Given the description of an element on the screen output the (x, y) to click on. 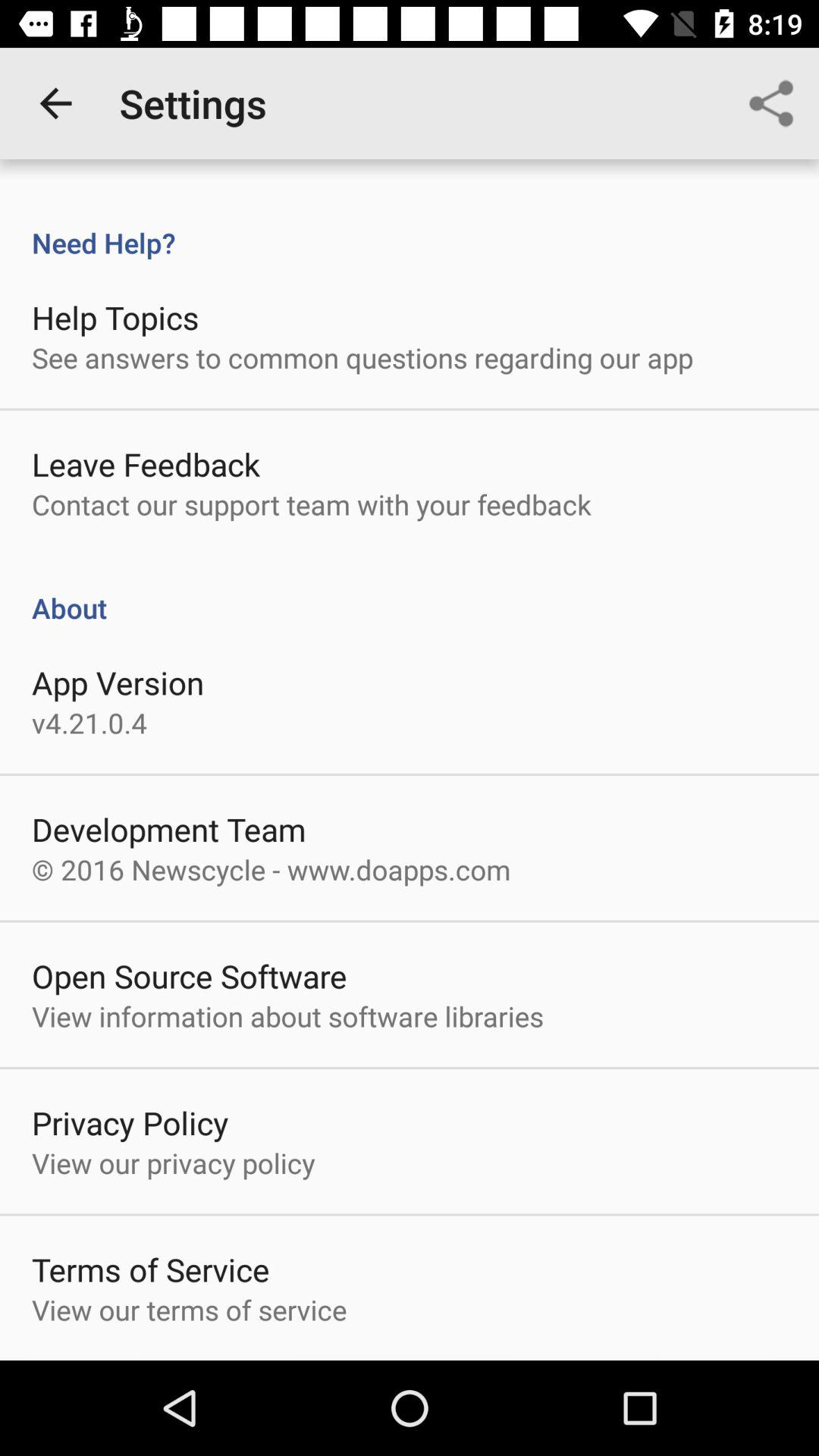
turn off the item below the 2016 newscycle www icon (188, 975)
